Given the description of an element on the screen output the (x, y) to click on. 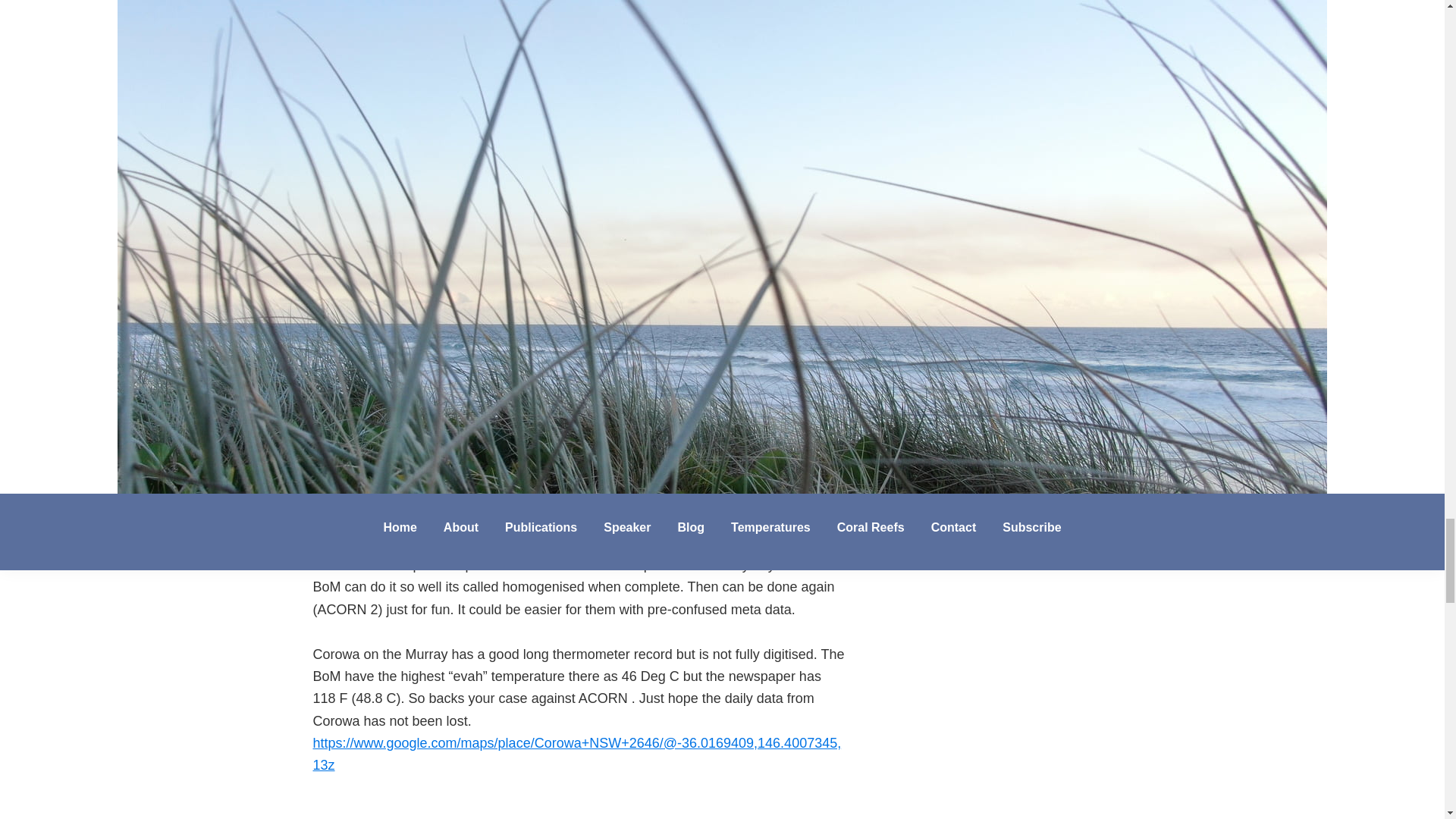
March 13, 2019 at 9:00 am (450, 319)
March 12, 2019 at 8:37 pm (450, 110)
